Given the description of an element on the screen output the (x, y) to click on. 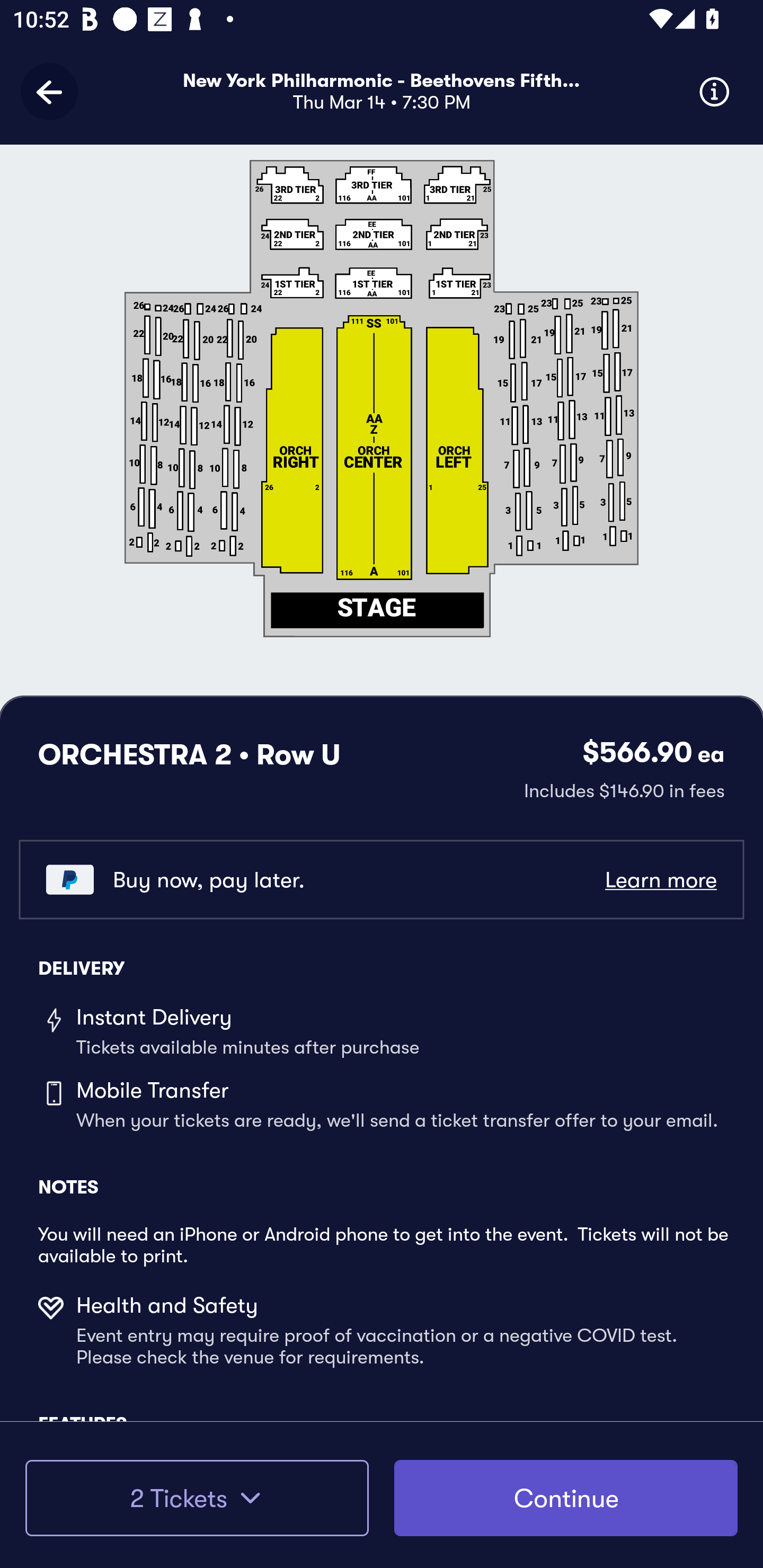
Learn more (660, 880)
2 Tickets (196, 1497)
Continue (565, 1497)
